Given the description of an element on the screen output the (x, y) to click on. 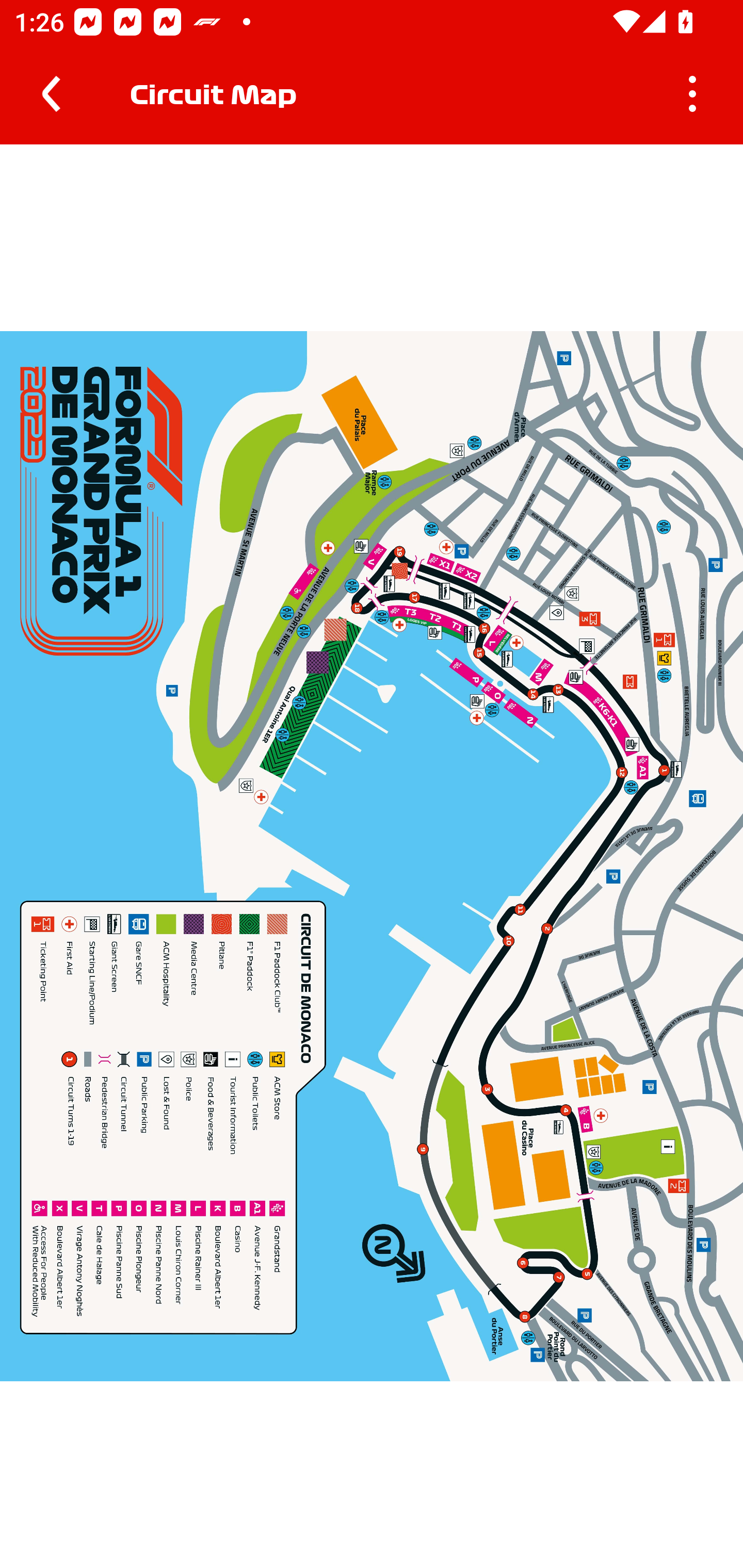
Navigate up (50, 93)
